Given the description of an element on the screen output the (x, y) to click on. 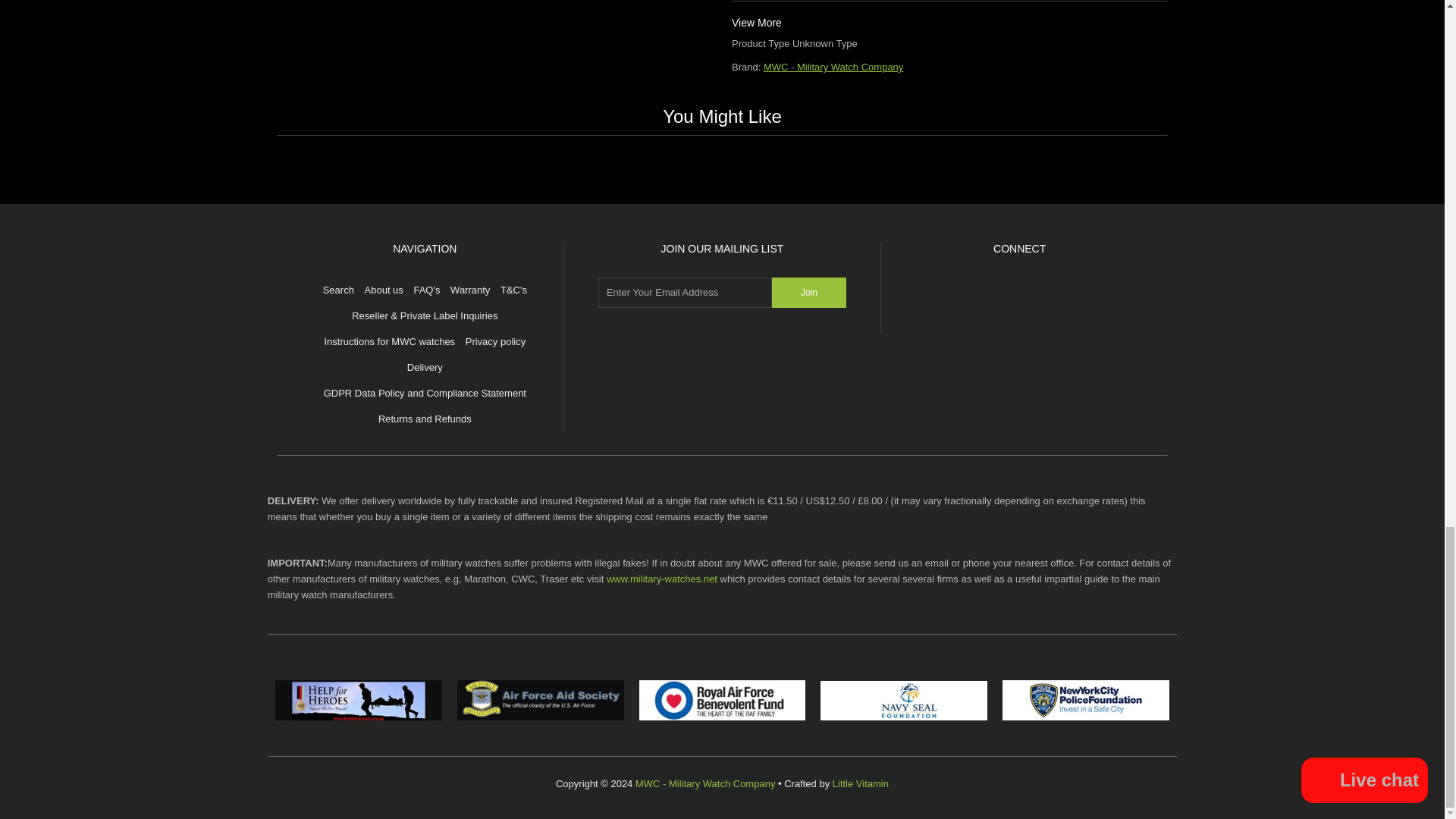
GDPR Data Policy and Compliance Statement (424, 392)
www.military-watches.net (662, 578)
Instructions for MWC watches (388, 341)
Privacy policy (495, 341)
Join (808, 292)
Delivery (424, 367)
FAQ's (426, 289)
MWC - Military Watch Company (832, 66)
Warranty (469, 289)
MWC - Military Watch Company (832, 66)
Search (338, 289)
Join (808, 292)
Returns and Refunds (424, 419)
About us (384, 289)
